Given the description of an element on the screen output the (x, y) to click on. 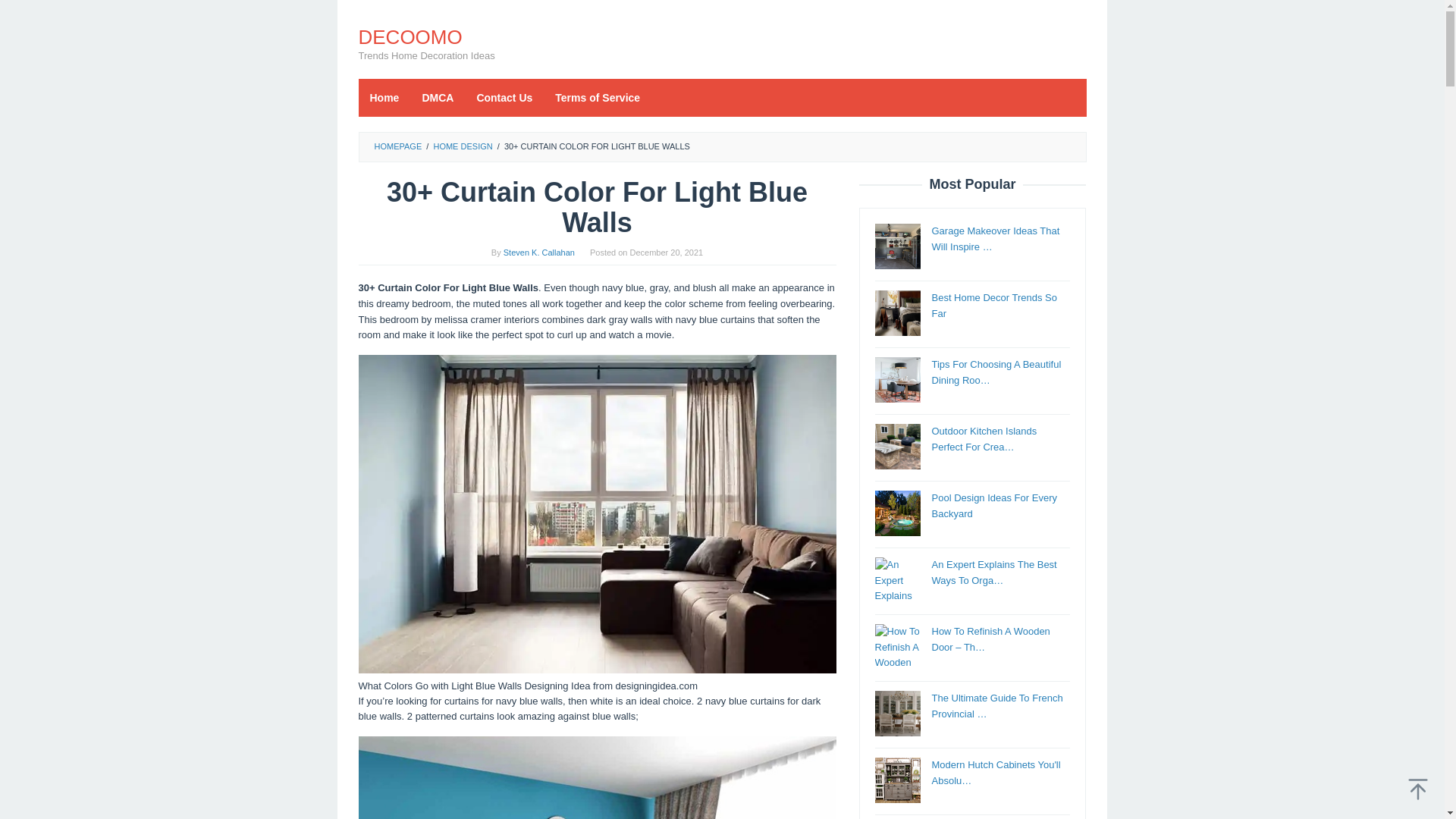
Pool Design Ideas For Every Backyard (994, 505)
Permalink to: Best Home Decor Trends So Far (994, 305)
Contact Us (503, 97)
Garage Makeover Ideas That Will Inspire You To Get Organized (897, 246)
DMCA (437, 97)
Best Home Decor Trends So Far (897, 312)
Steven K. Callahan (539, 252)
Best Home Decor Trends So Far (994, 305)
DECOOMO (409, 36)
HOME DESIGN (462, 145)
Terms of Service (596, 97)
Home (384, 97)
DECOOMO (409, 36)
Permalink to: Steven K. Callahan (539, 252)
